Given the description of an element on the screen output the (x, y) to click on. 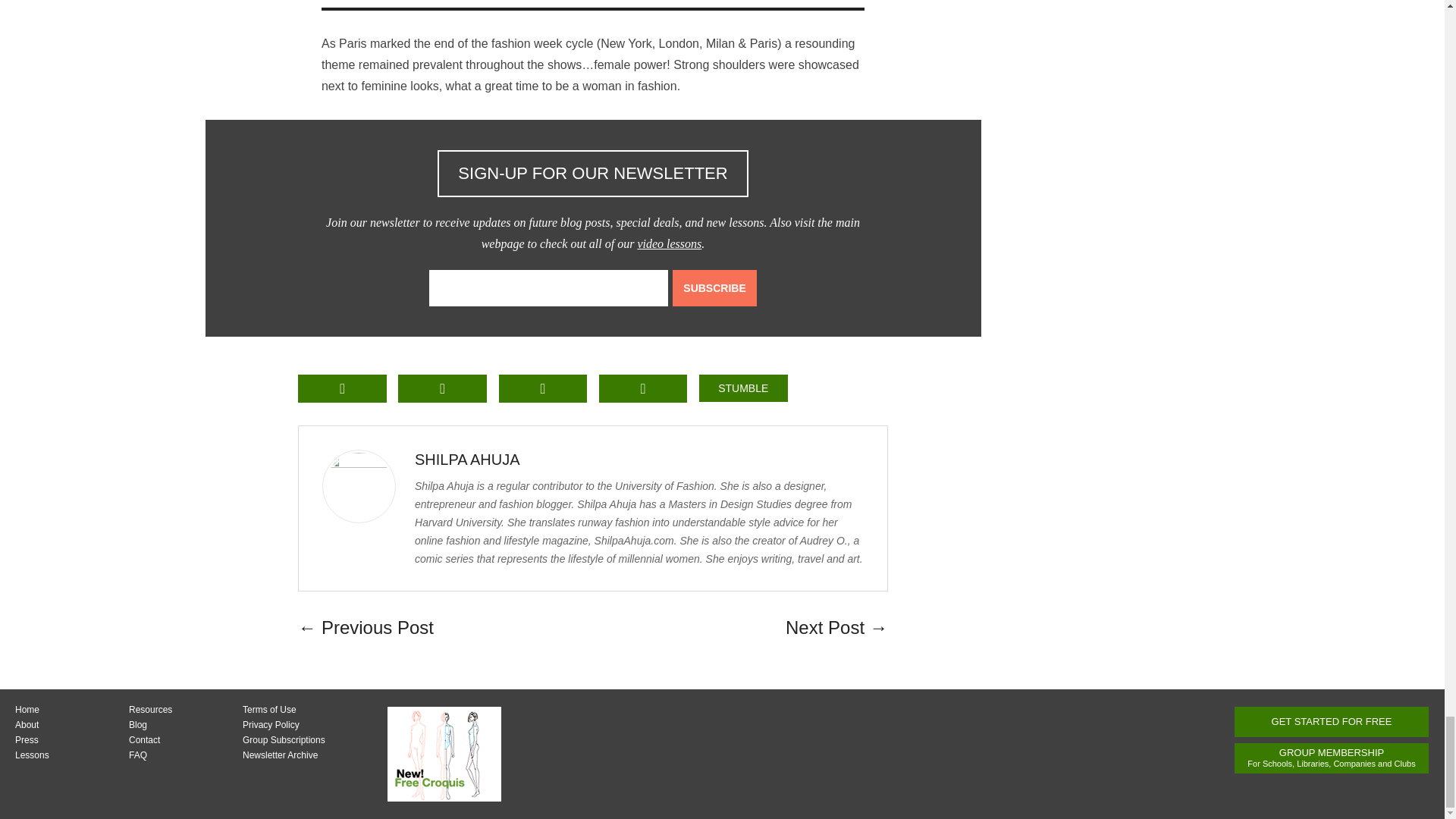
Subscribe (713, 288)
